Given the description of an element on the screen output the (x, y) to click on. 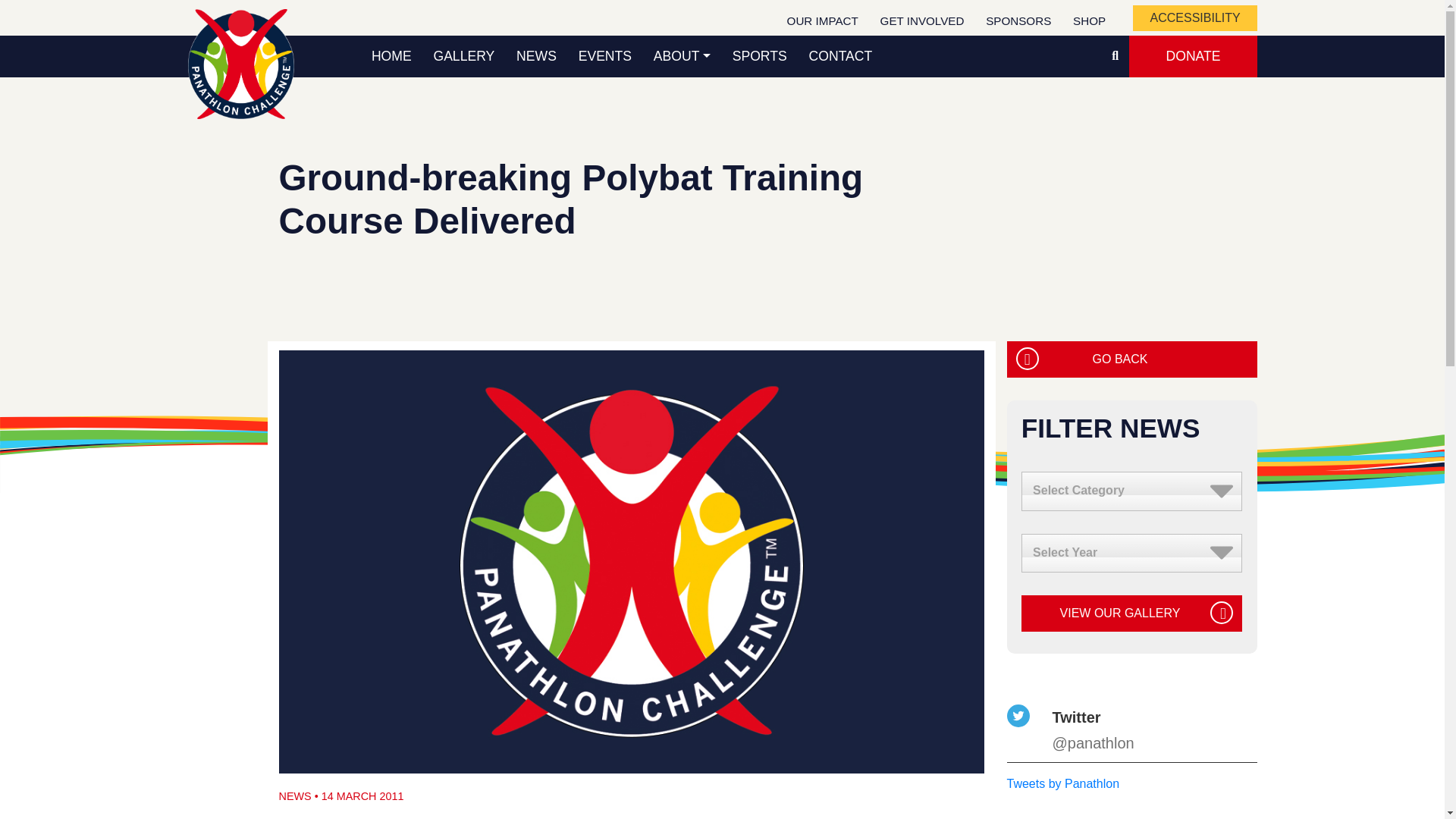
ABOUT (681, 56)
HOME (392, 56)
GALLERY (463, 56)
SPORTS (758, 56)
SHOP (1089, 21)
SPONSORS (1018, 21)
EVENTS (604, 56)
NEWS (536, 56)
CONTACT (840, 56)
GET INVOLVED (922, 21)
